Given the description of an element on the screen output the (x, y) to click on. 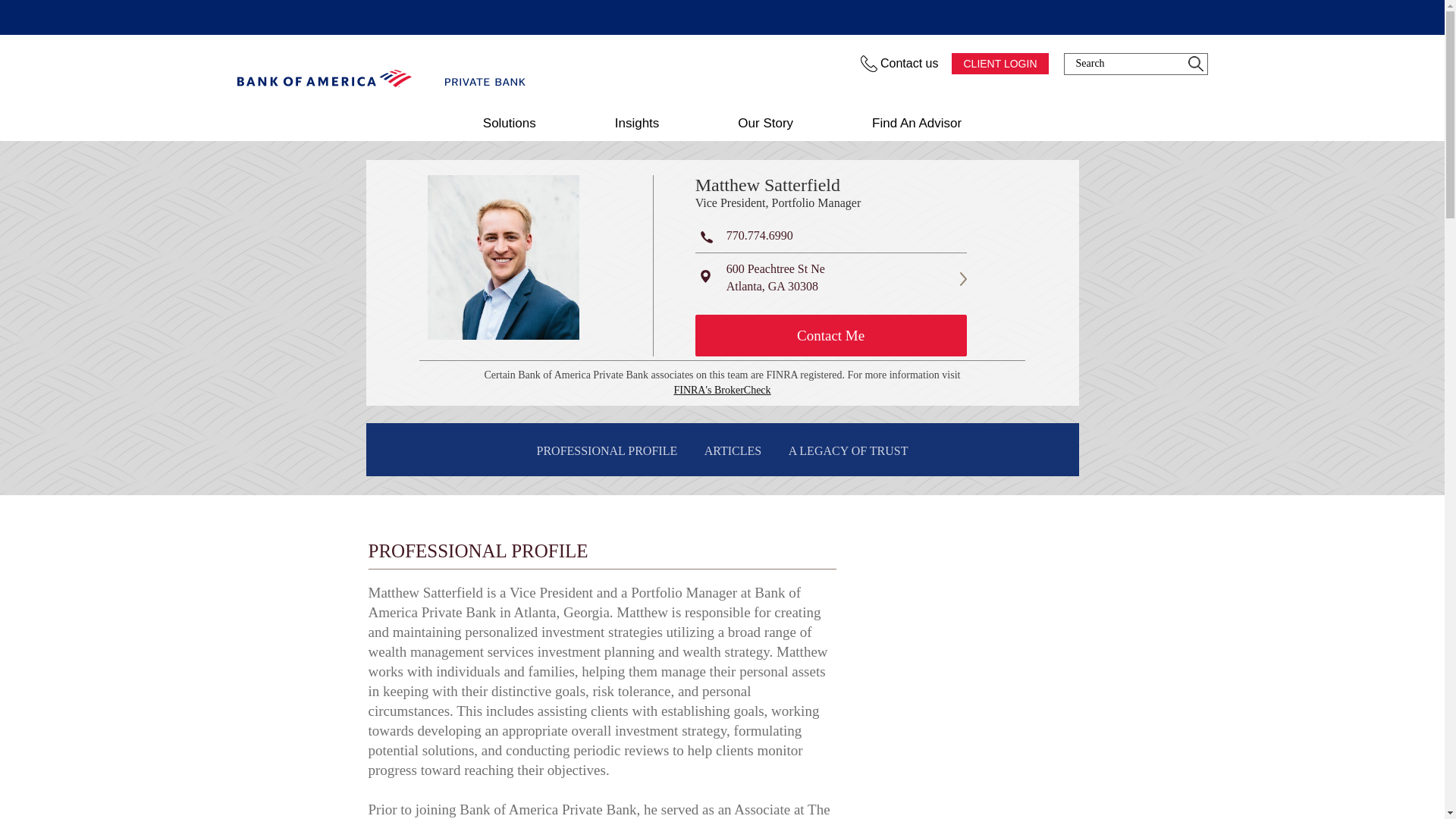
A LEGACY OF TRUST (848, 451)
ARTICLES (733, 451)
Solutions (509, 122)
PROFESSIONAL PROFILE (607, 451)
CLIENT LOGIN (1000, 63)
Insights (637, 122)
Professional Picture (503, 257)
Contact us (900, 63)
Our Story (765, 122)
Contact Me (830, 335)
